Given the description of an element on the screen output the (x, y) to click on. 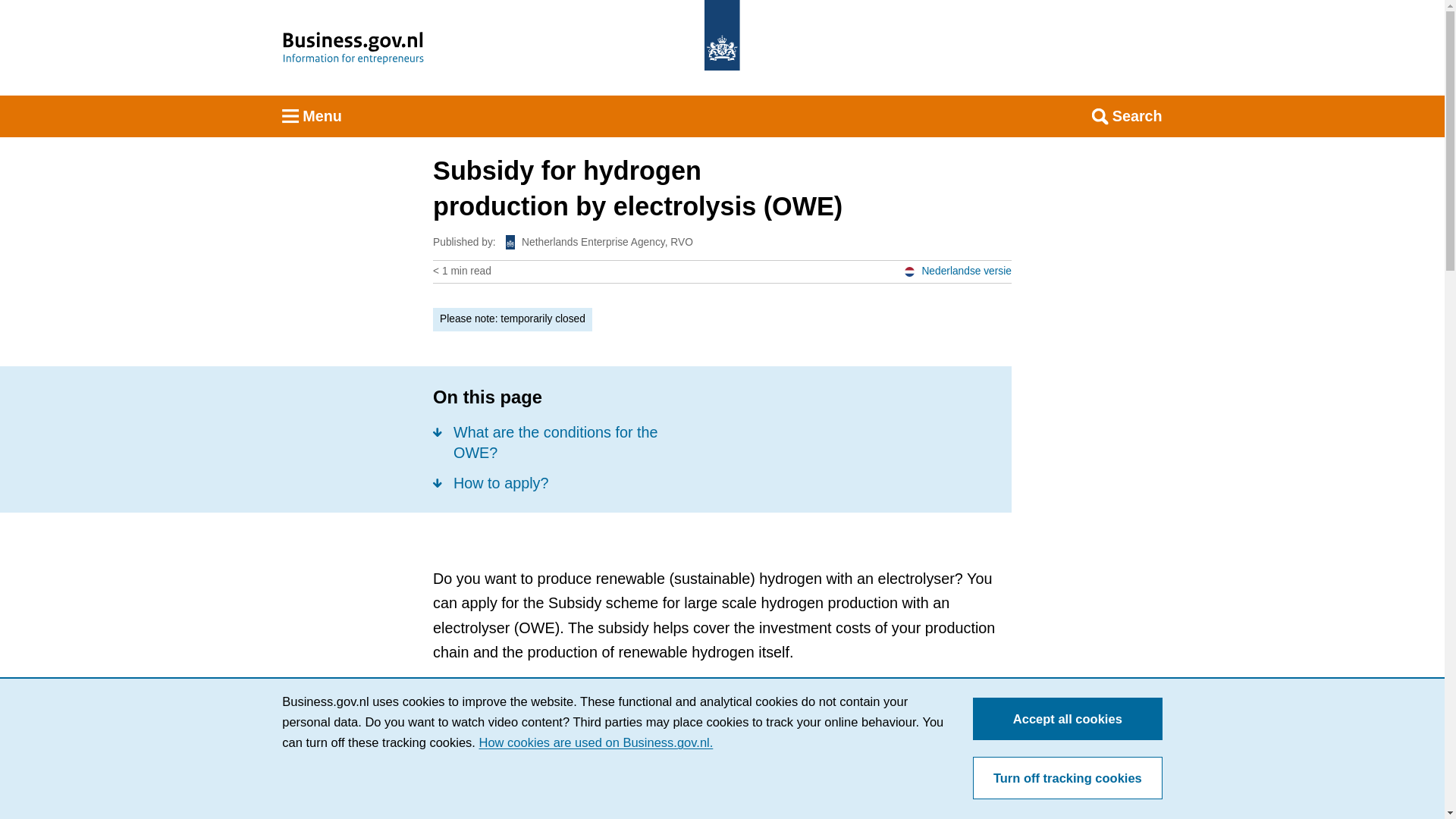
How cookies are used on Business.gov.nl. (596, 742)
Search (1126, 116)
Skip to navigation (742, 28)
Nederlandse versie (957, 271)
Accept all cookies (1066, 718)
What are the conditions for the OWE? (558, 441)
Menu (312, 116)
Turn off tracking cookies (1066, 777)
